Given the description of an element on the screen output the (x, y) to click on. 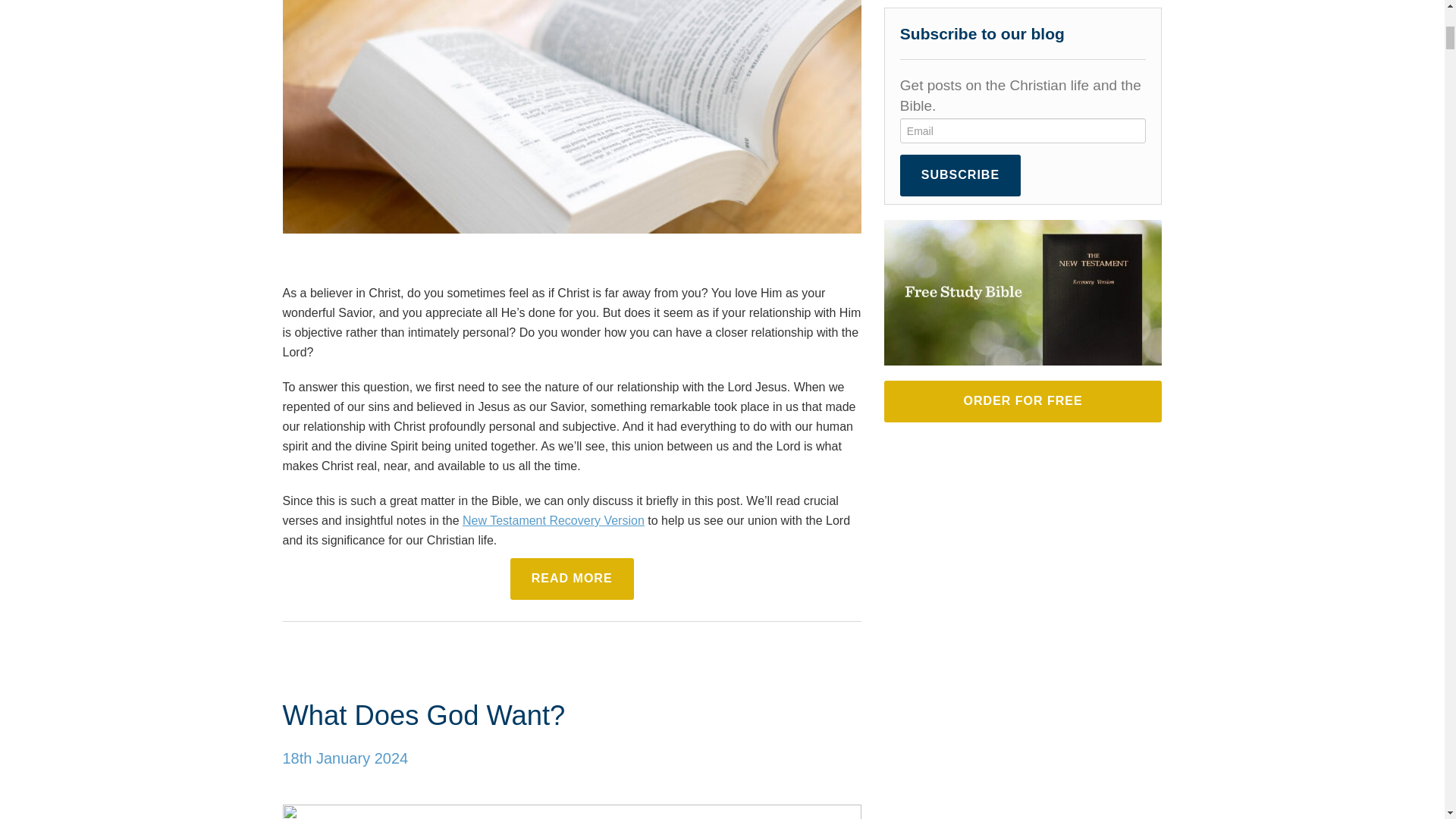
18th January 2024 (344, 758)
What Does God Want? (423, 715)
READ MORE (572, 578)
New Testament Recovery Version (554, 520)
